Given the description of an element on the screen output the (x, y) to click on. 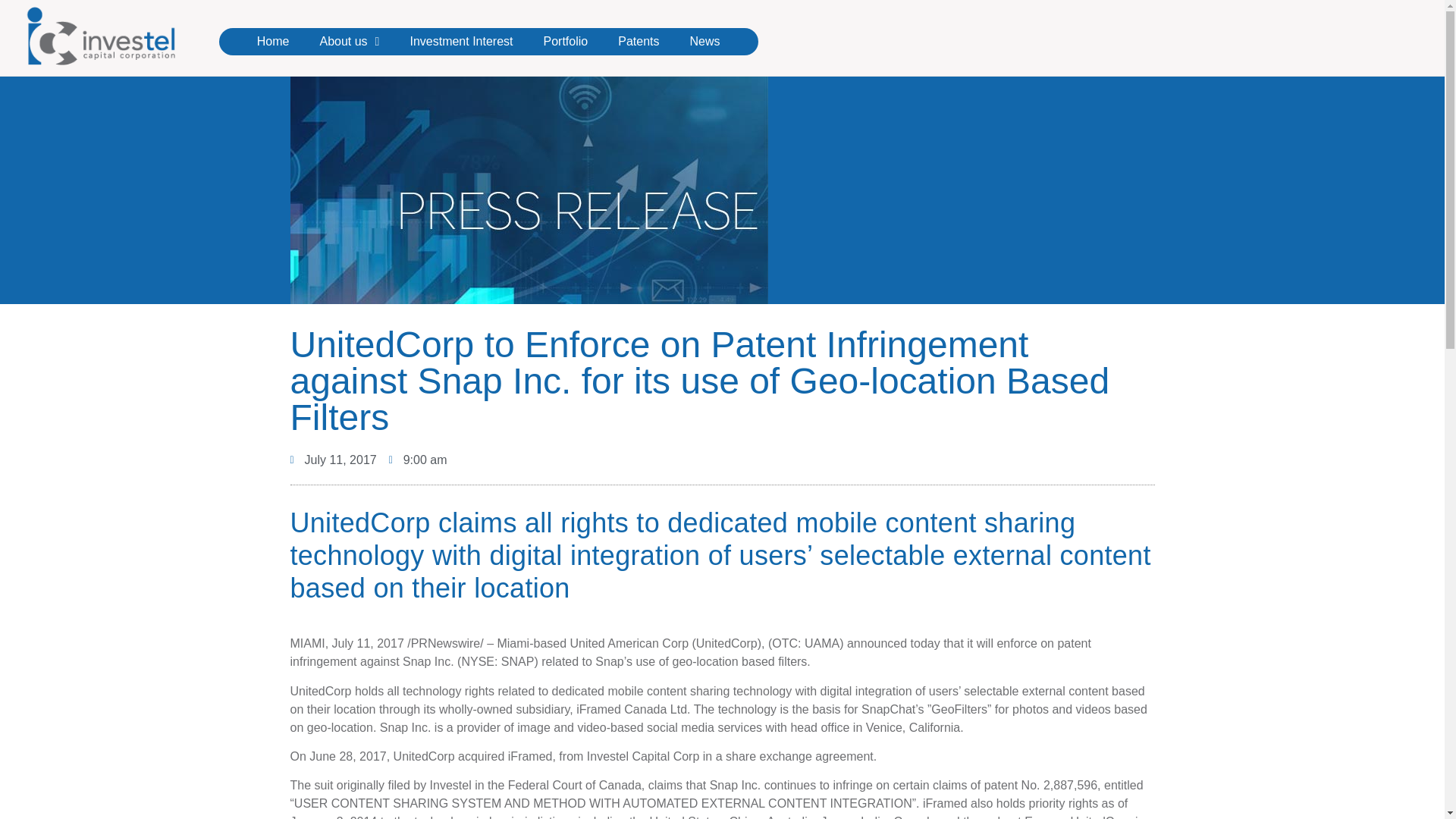
Home (272, 41)
About us (349, 41)
Portfolio (566, 41)
Investment Interest (460, 41)
News (704, 41)
Patents (638, 41)
